Given the description of an element on the screen output the (x, y) to click on. 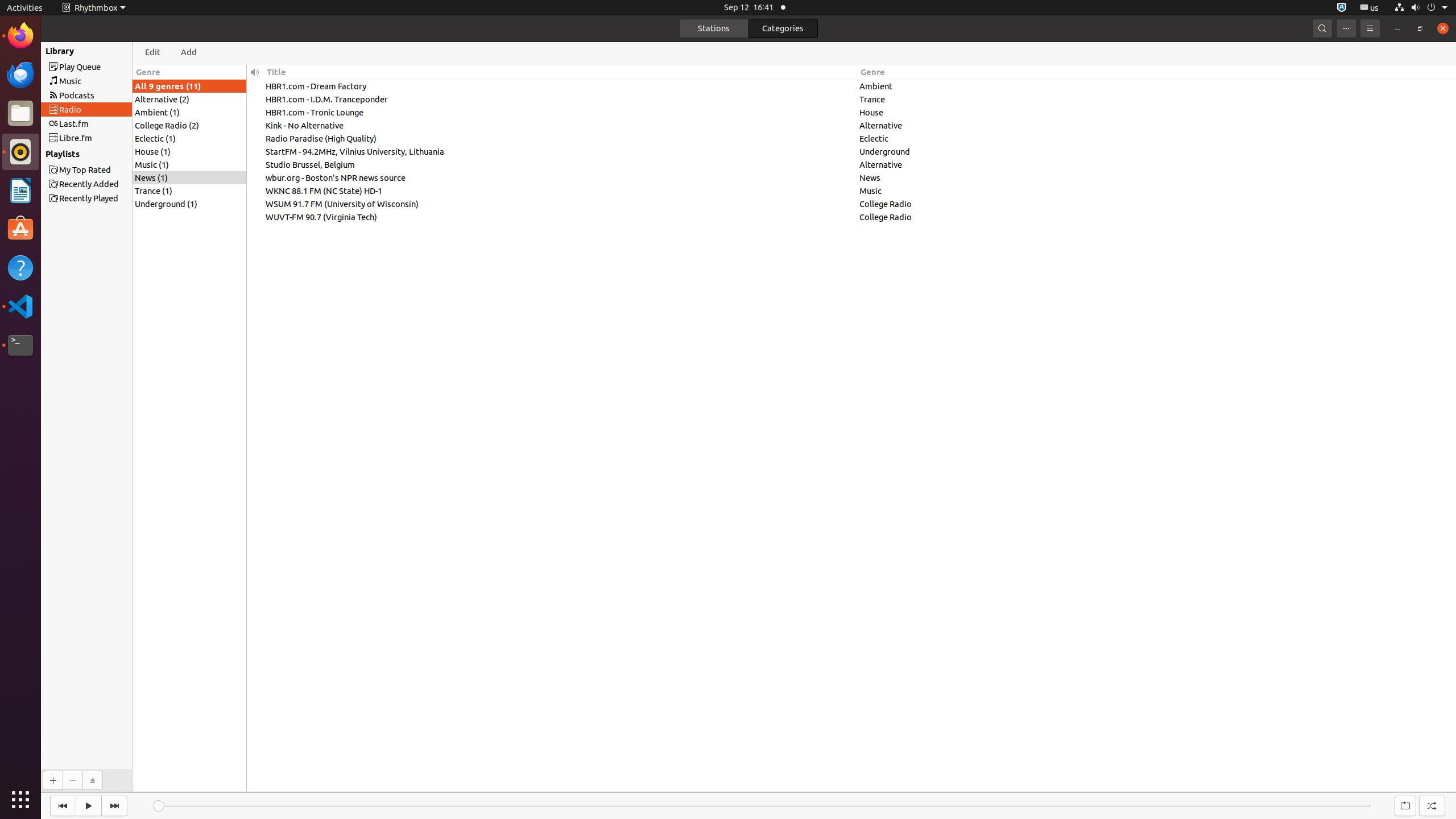
IsaHelpMain.desktop Element type: label (75, 170)
My Top Rated Element type: table-cell (106, 169)
House (1) Element type: table-cell (189, 151)
Recently Played Element type: table-cell (106, 50)
